Given the description of an element on the screen output the (x, y) to click on. 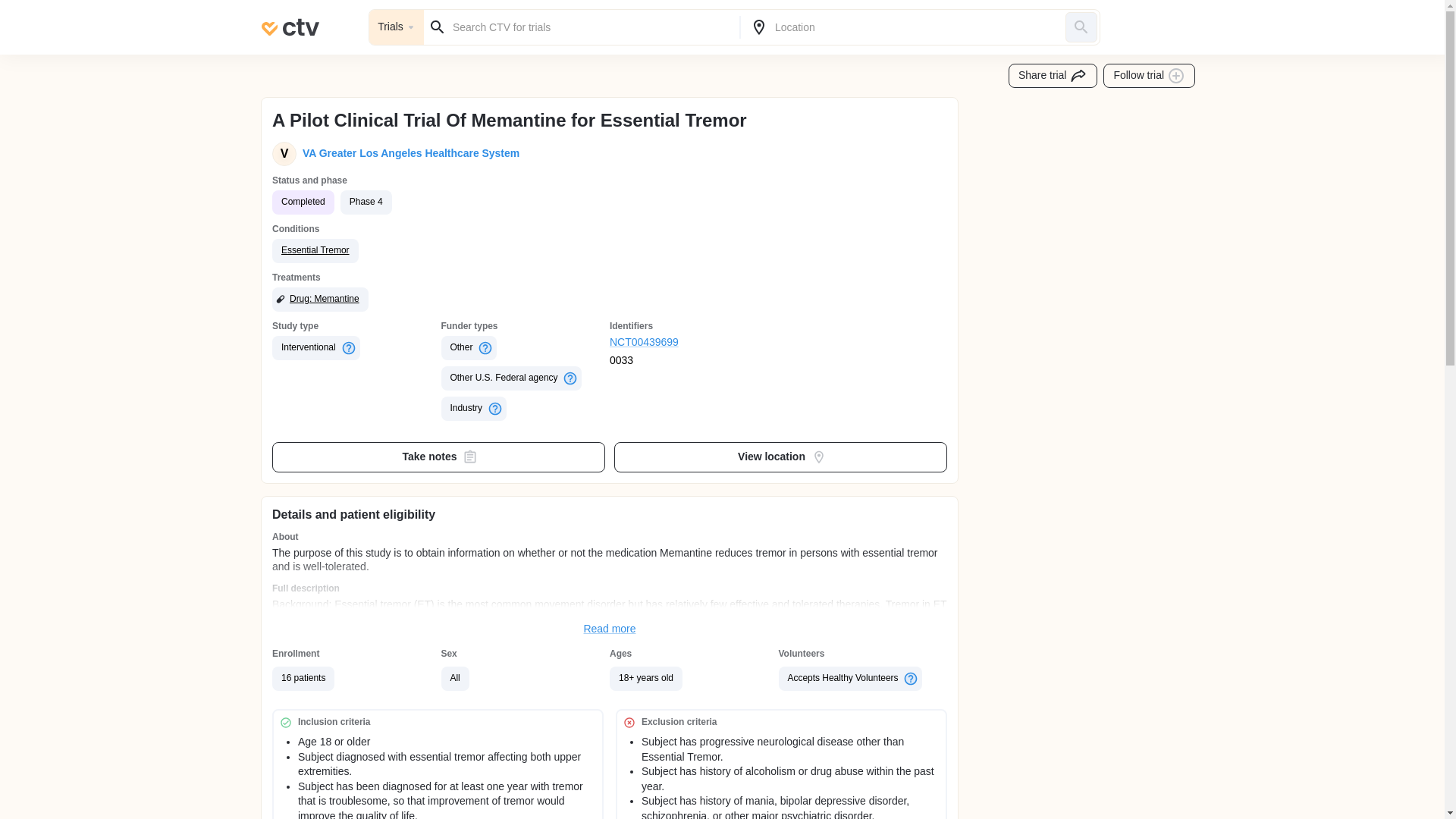
Trials (396, 27)
Follow trial (1149, 75)
NCT00439699 (694, 342)
View location (780, 457)
VA Greater Los Angeles Healthcare System (408, 153)
Share trial (1053, 75)
Take notes (438, 457)
Read more (609, 629)
